Given the description of an element on the screen output the (x, y) to click on. 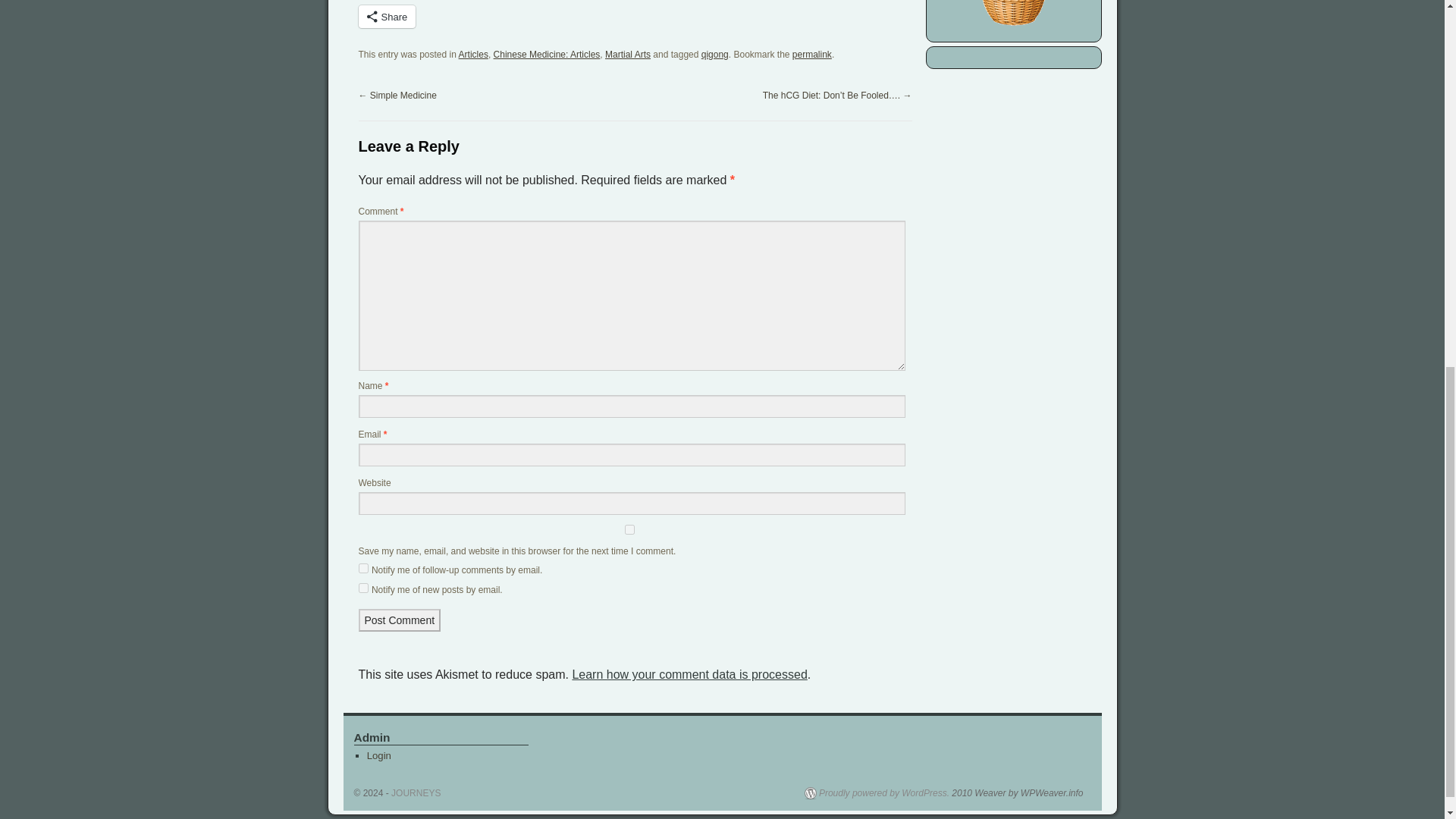
Articles (472, 54)
Chinese Medicine: Articles (546, 54)
subscribe (363, 568)
Permalink to Qigong Healing (811, 54)
Post Comment (399, 620)
subscribe (363, 587)
JOURNEYS (416, 792)
Martial Arts (627, 54)
Share (386, 15)
yes (628, 529)
